Given the description of an element on the screen output the (x, y) to click on. 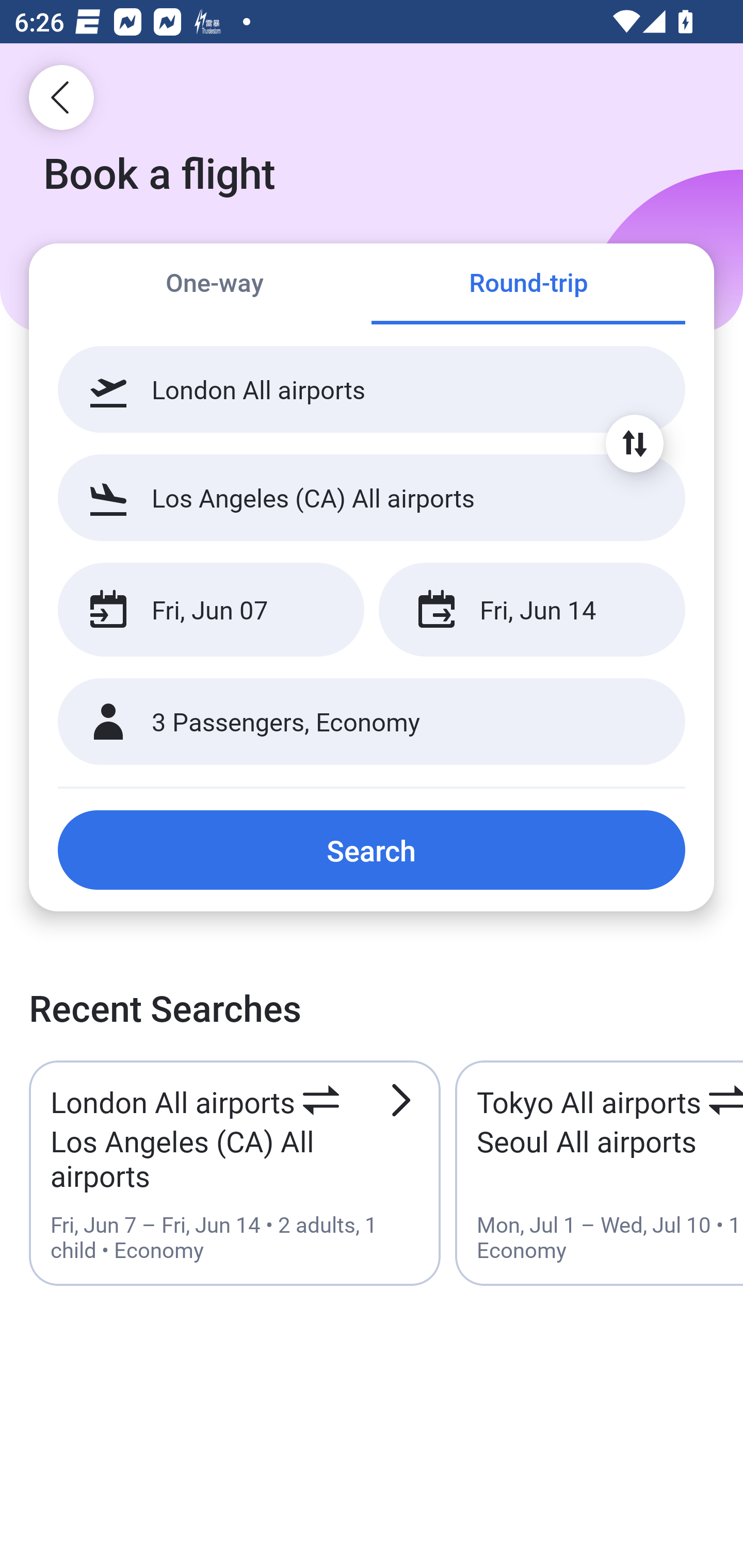
One-way (214, 284)
London All airports (371, 389)
Los Angeles (CA) All airports (371, 497)
Fri, Jun 07 (210, 609)
Fri, Jun 14 (531, 609)
3 Passengers, Economy (371, 721)
Search (371, 849)
